Given the description of an element on the screen output the (x, y) to click on. 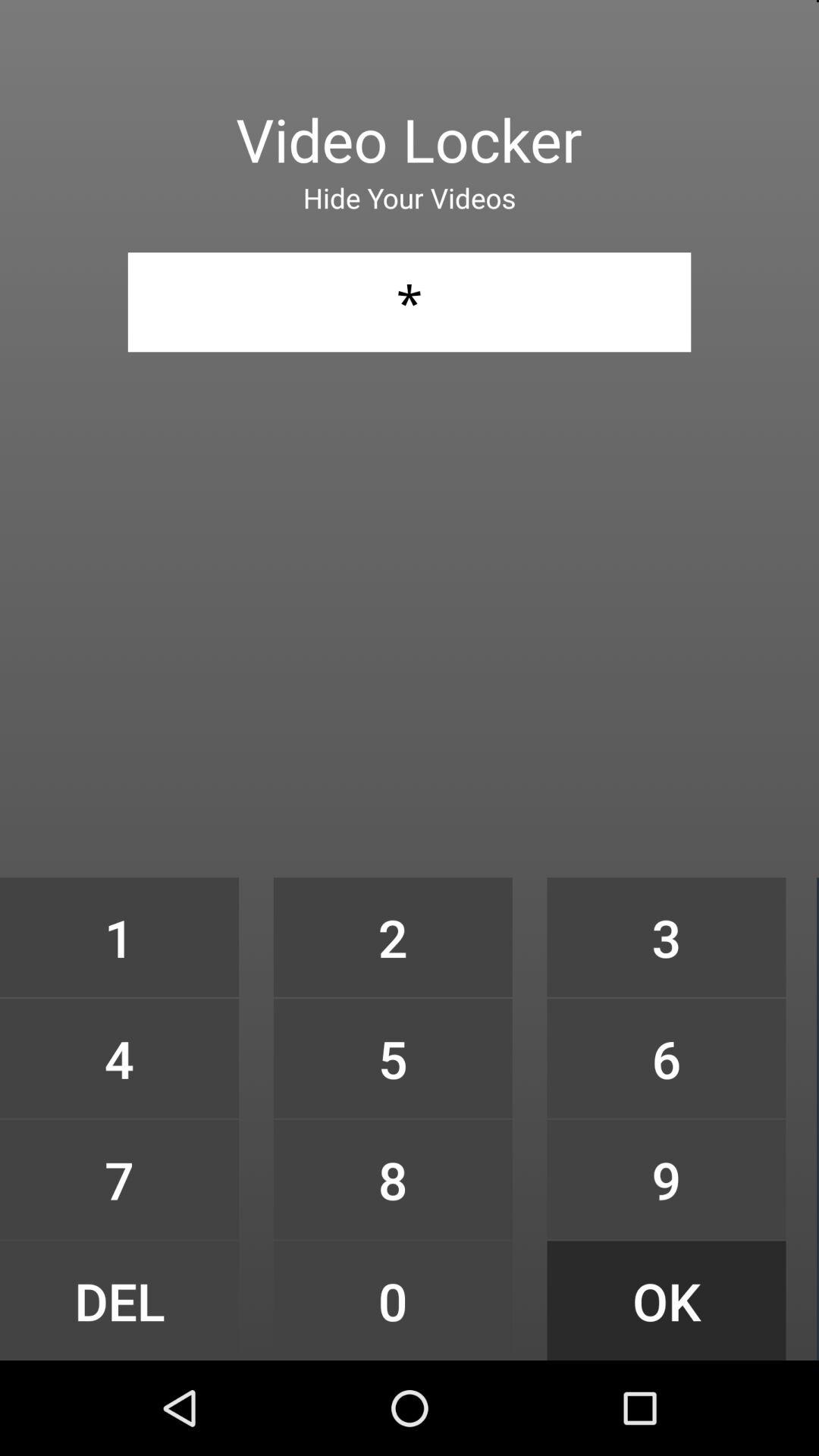
turn off icon next to the 1 (392, 1058)
